Given the description of an element on the screen output the (x, y) to click on. 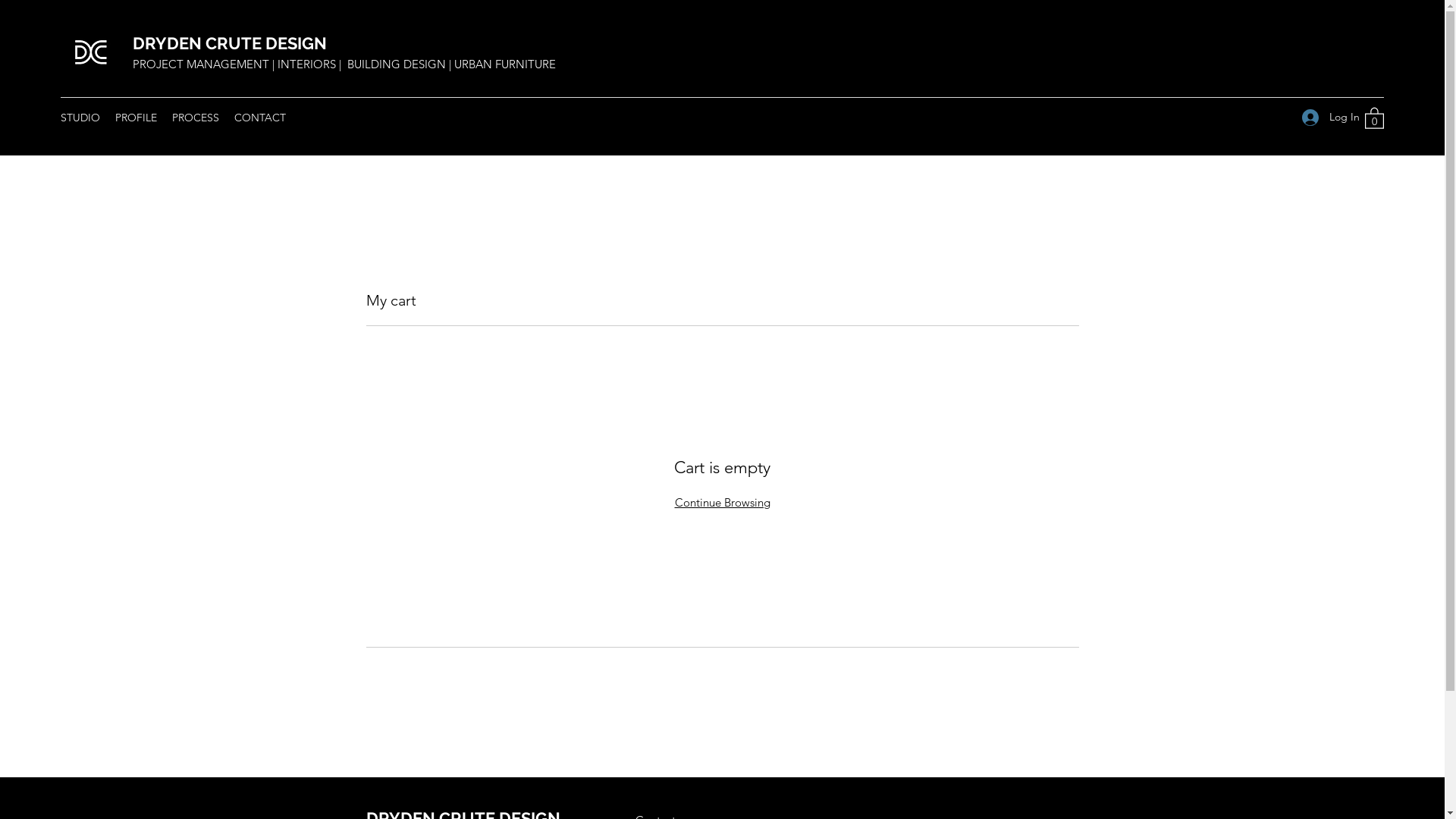
STUDIO Element type: text (80, 117)
0 Element type: text (1374, 117)
PROFILE Element type: text (135, 117)
Continue Browsing Element type: text (722, 502)
PROCESS Element type: text (195, 117)
Log In Element type: text (1325, 117)
CONTACT Element type: text (259, 117)
